Given the description of an element on the screen output the (x, y) to click on. 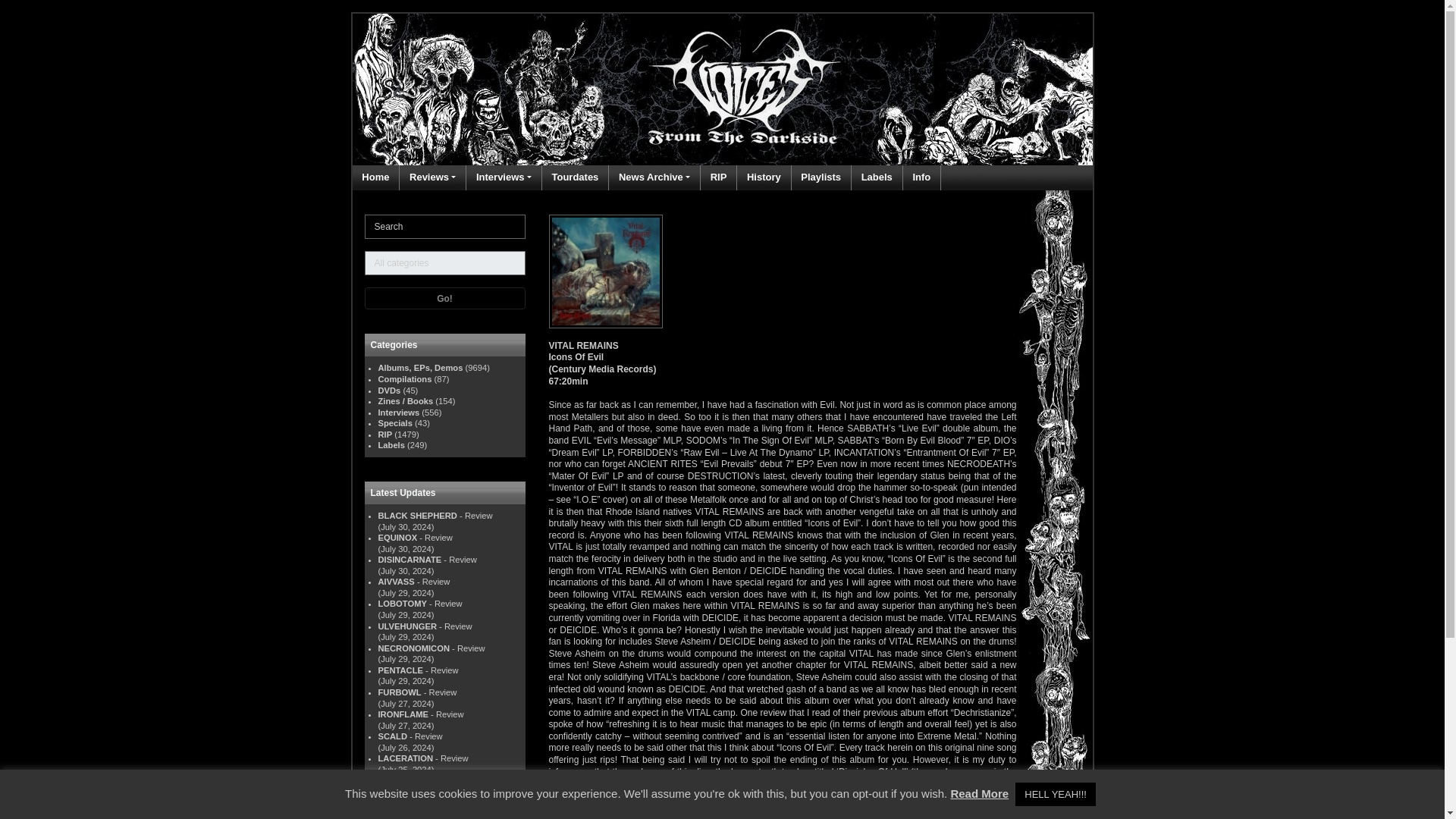
History (764, 177)
News Archive (653, 177)
Reviews (432, 177)
Interviews (503, 177)
Home (374, 177)
Tourdates (574, 177)
RIP (718, 177)
